Given the description of an element on the screen output the (x, y) to click on. 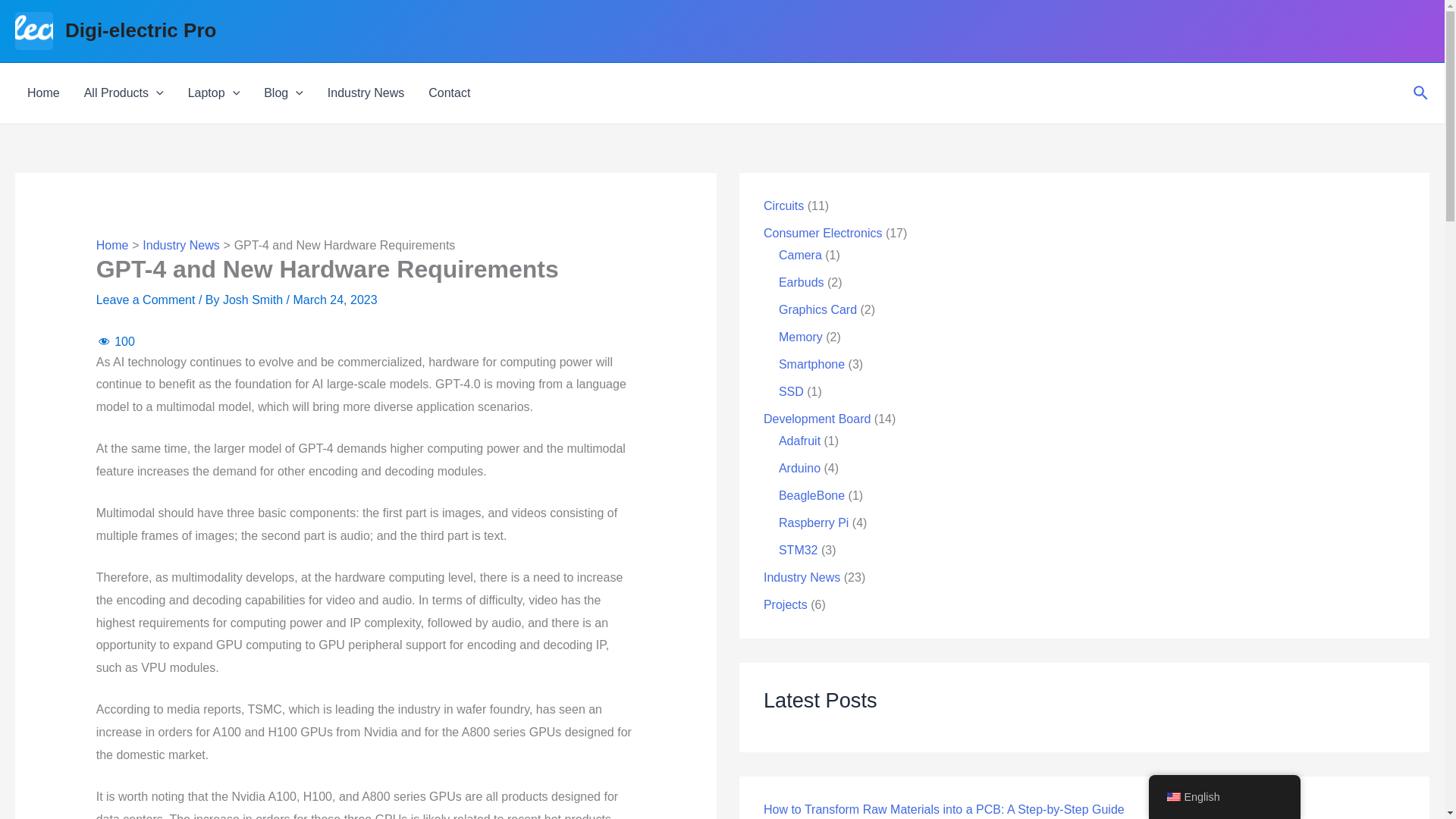
Industry News (365, 93)
Blog (283, 93)
All Products (123, 93)
Laptop (213, 93)
Contact (448, 93)
Home (42, 93)
Digi-electric Pro (140, 29)
View all posts by Josh Smith (254, 299)
English (1172, 796)
